Given the description of an element on the screen output the (x, y) to click on. 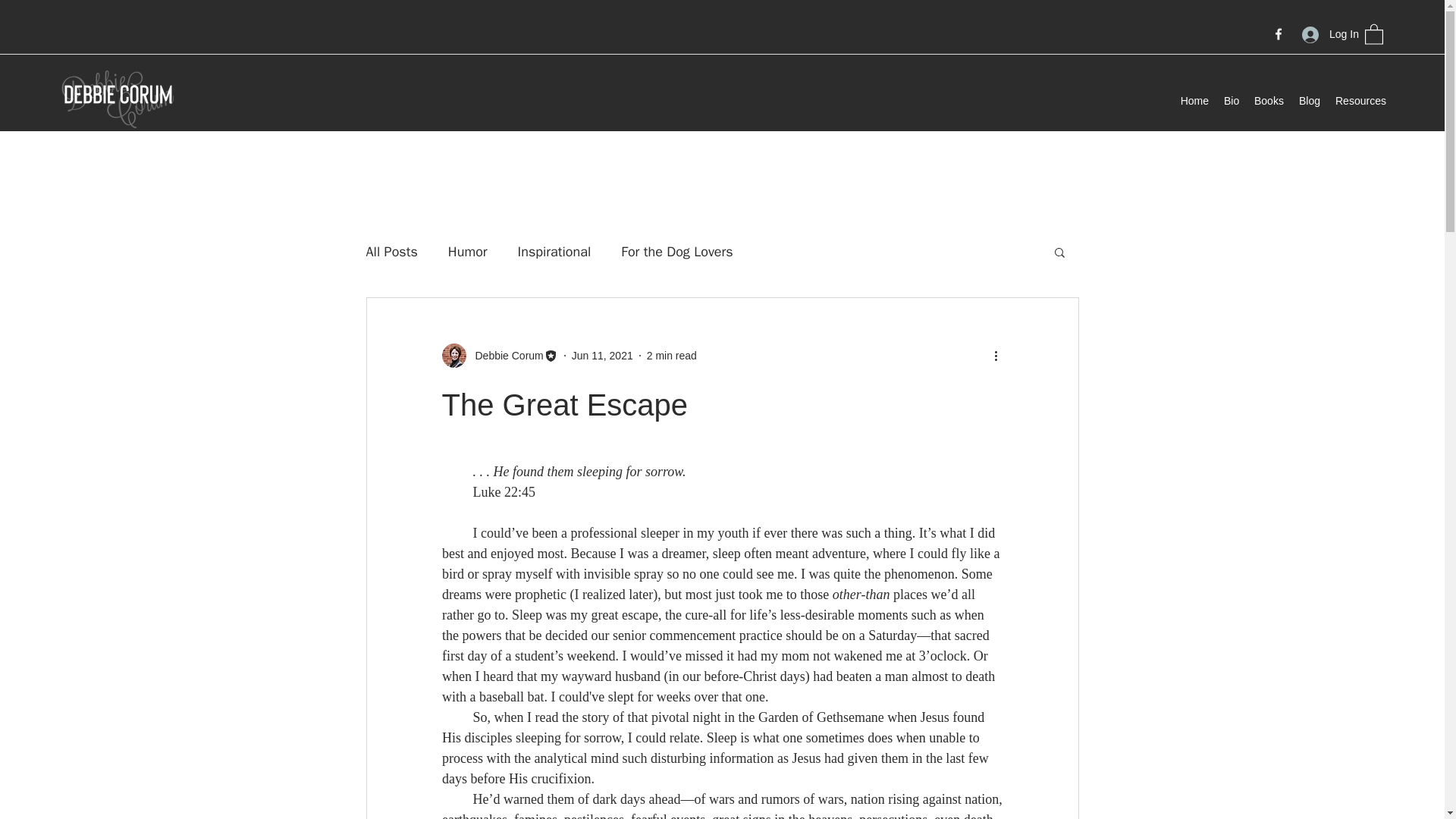
Debbie Corum (499, 355)
For the Dog Lovers (676, 251)
Inspirational (554, 251)
Home (1193, 100)
Bio (1230, 100)
Resources (1359, 100)
All Posts (390, 251)
Jun 11, 2021 (602, 354)
2 min read (671, 354)
Blog (1308, 100)
Log In (1325, 34)
Humor (467, 251)
Debbie Corum (504, 355)
Books (1268, 100)
